Given the description of an element on the screen output the (x, y) to click on. 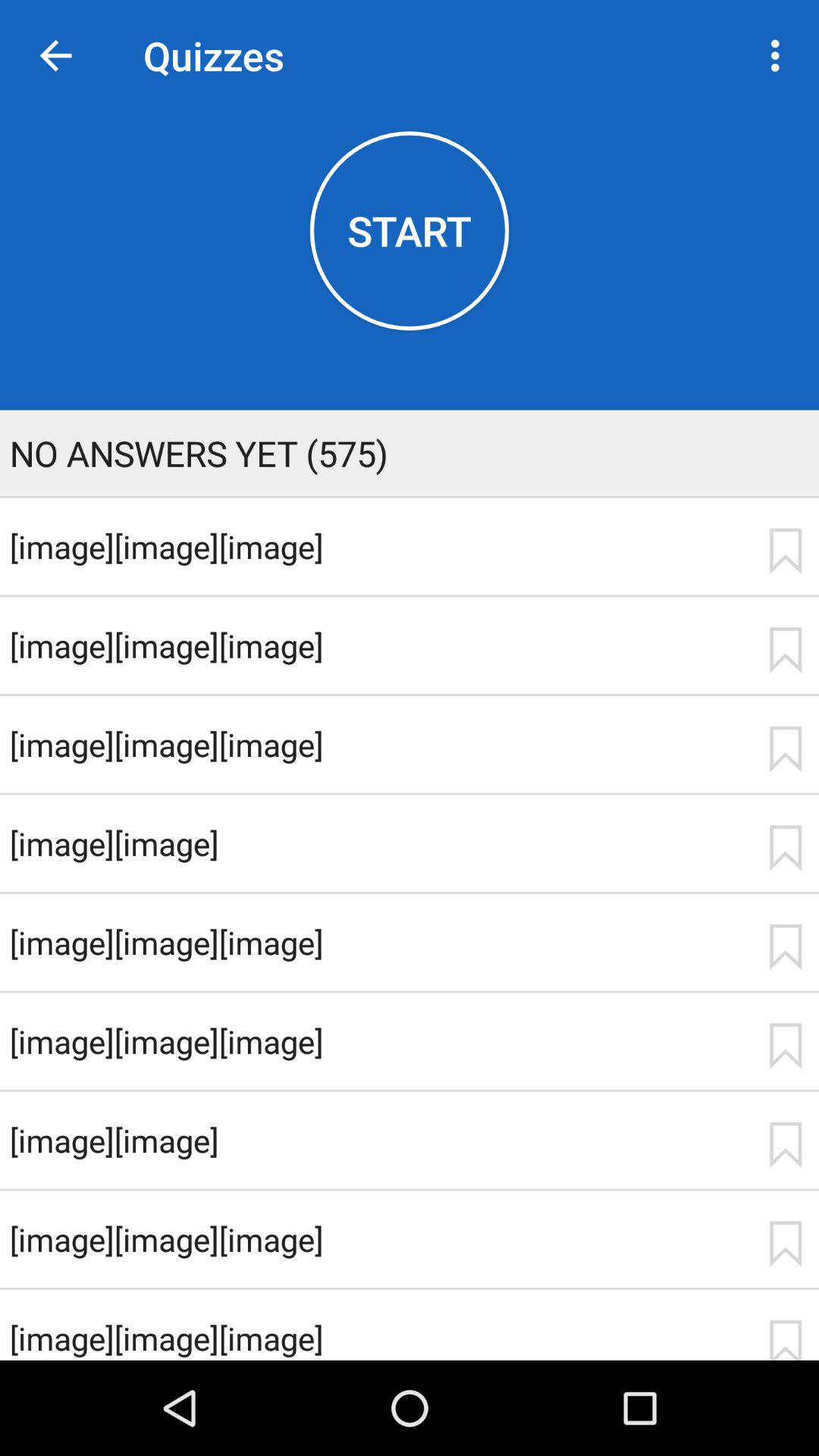
add tag title (784, 1046)
